Given the description of an element on the screen output the (x, y) to click on. 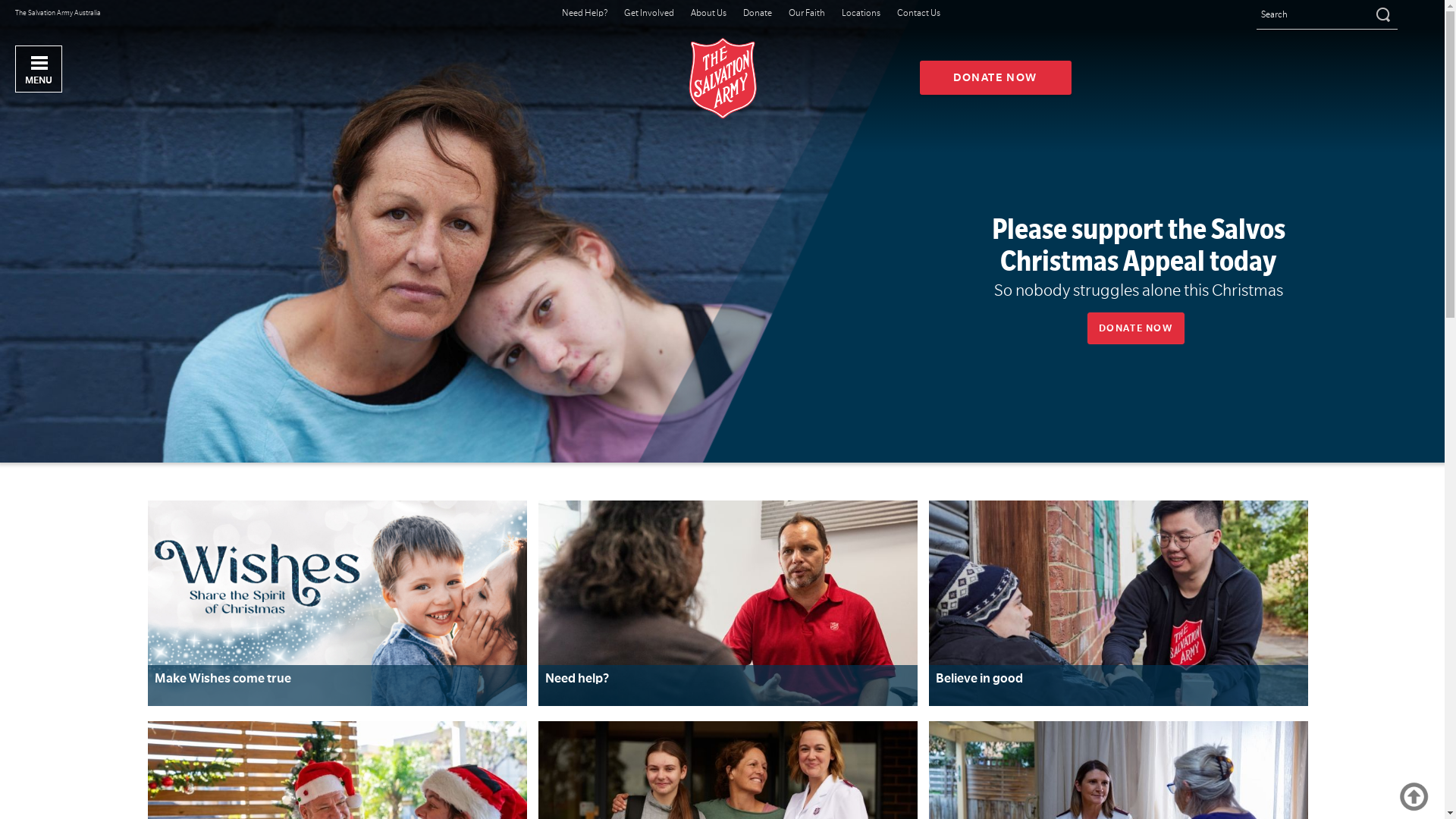
Menu Element type: hover (38, 68)
Search Element type: hover (1381, 14)
